Given the description of an element on the screen output the (x, y) to click on. 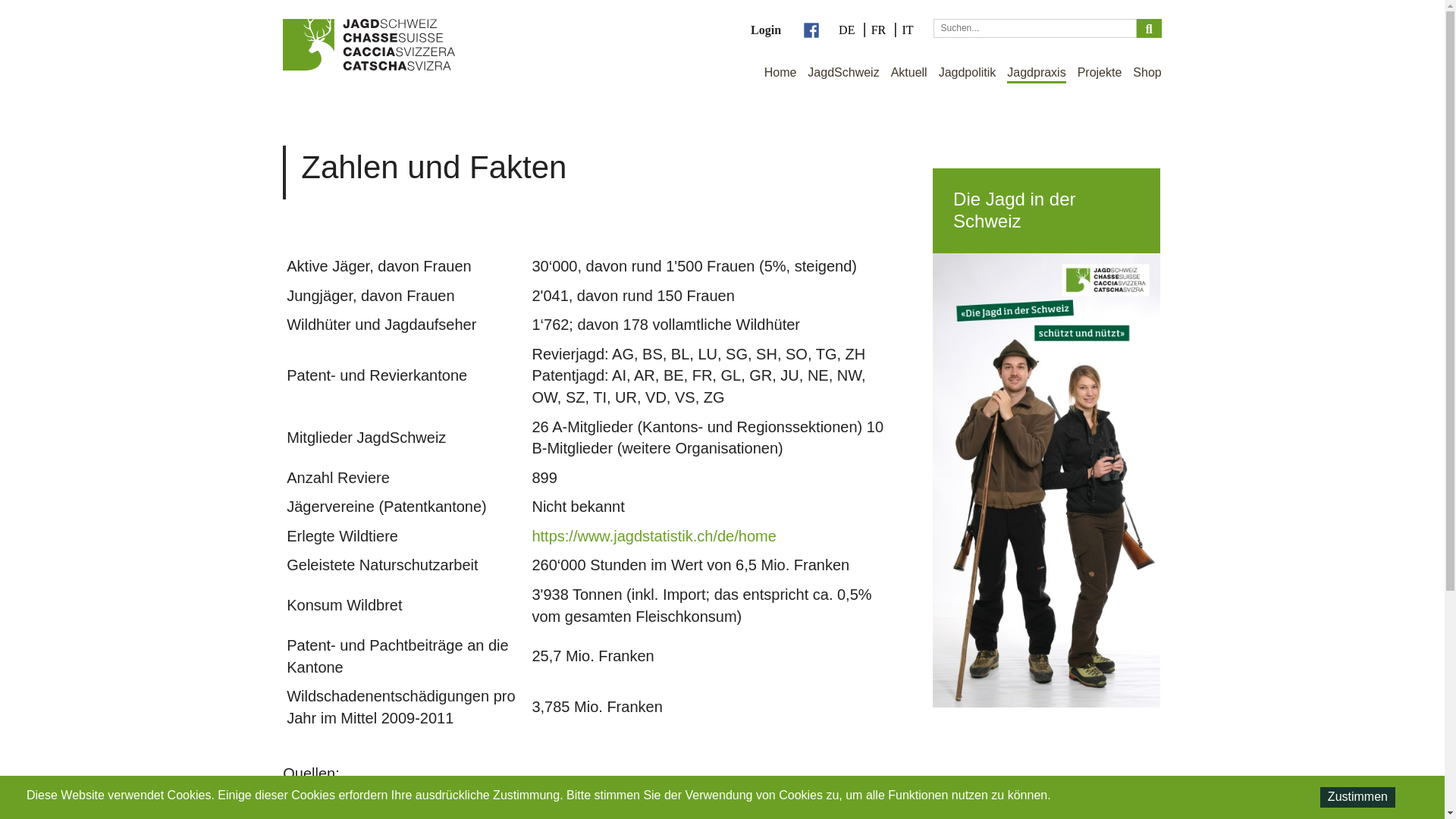
Home Element type: text (780, 74)
JagdSchweiz Element type: hover (368, 44)
DE Element type: text (847, 29)
Projekte Element type: text (1099, 74)
Aktuell Element type: text (909, 74)
https://www.jagdstatistik.ch/de/home Element type: text (653, 535)
Shop Element type: text (1146, 74)
Jagdpraxis Element type: text (1036, 74)
Jagdpolitik Element type: text (967, 74)
FR Element type: text (880, 29)
Die Jagd in der Schweiz Element type: text (1046, 437)
IT Element type: text (907, 29)
JagdSchweiz Element type: text (842, 74)
Login Element type: text (765, 29)
